Given the description of an element on the screen output the (x, y) to click on. 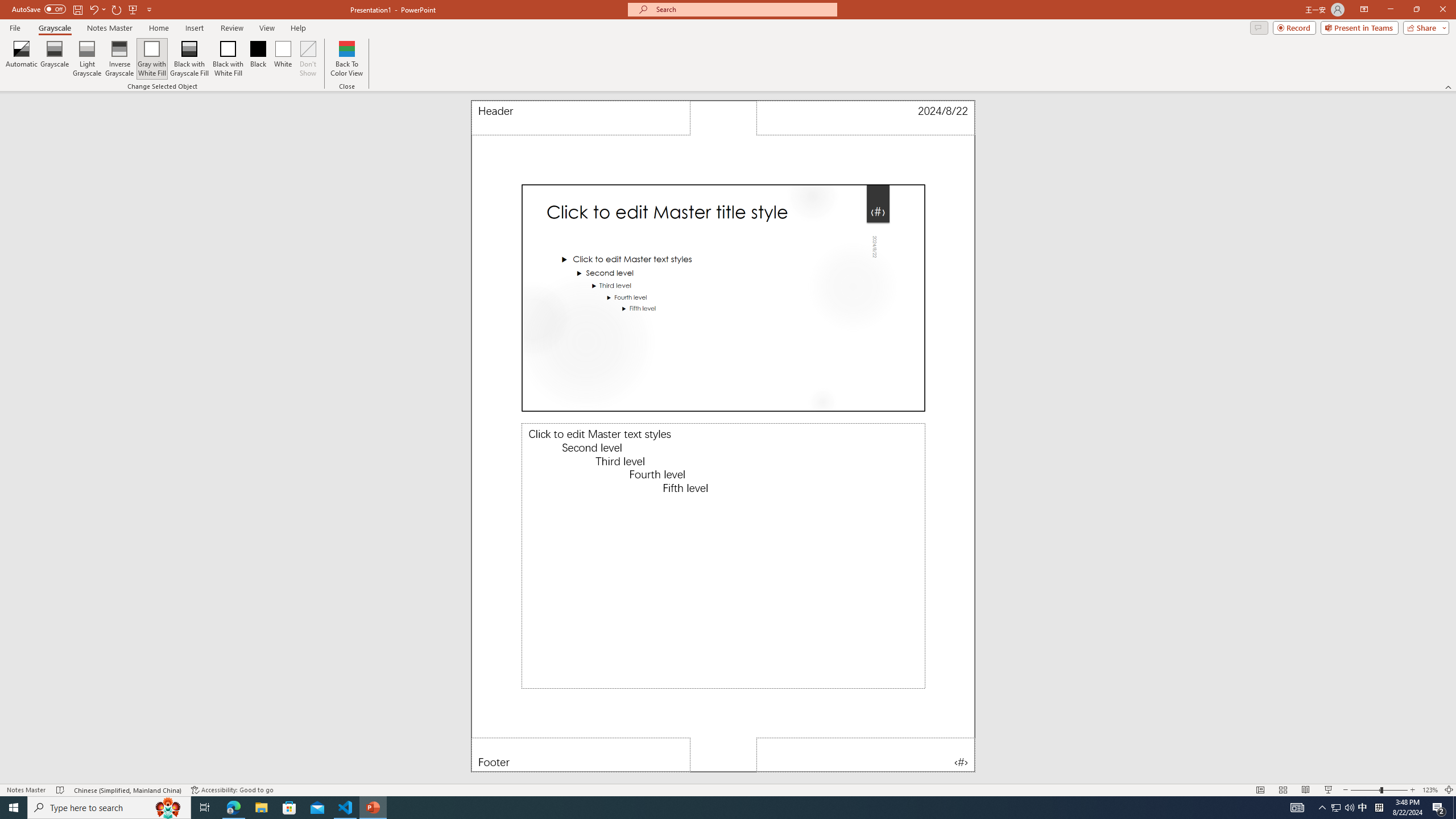
Automatic (21, 58)
Black (258, 58)
White (282, 58)
Notes Master (108, 28)
